Given the description of an element on the screen output the (x, y) to click on. 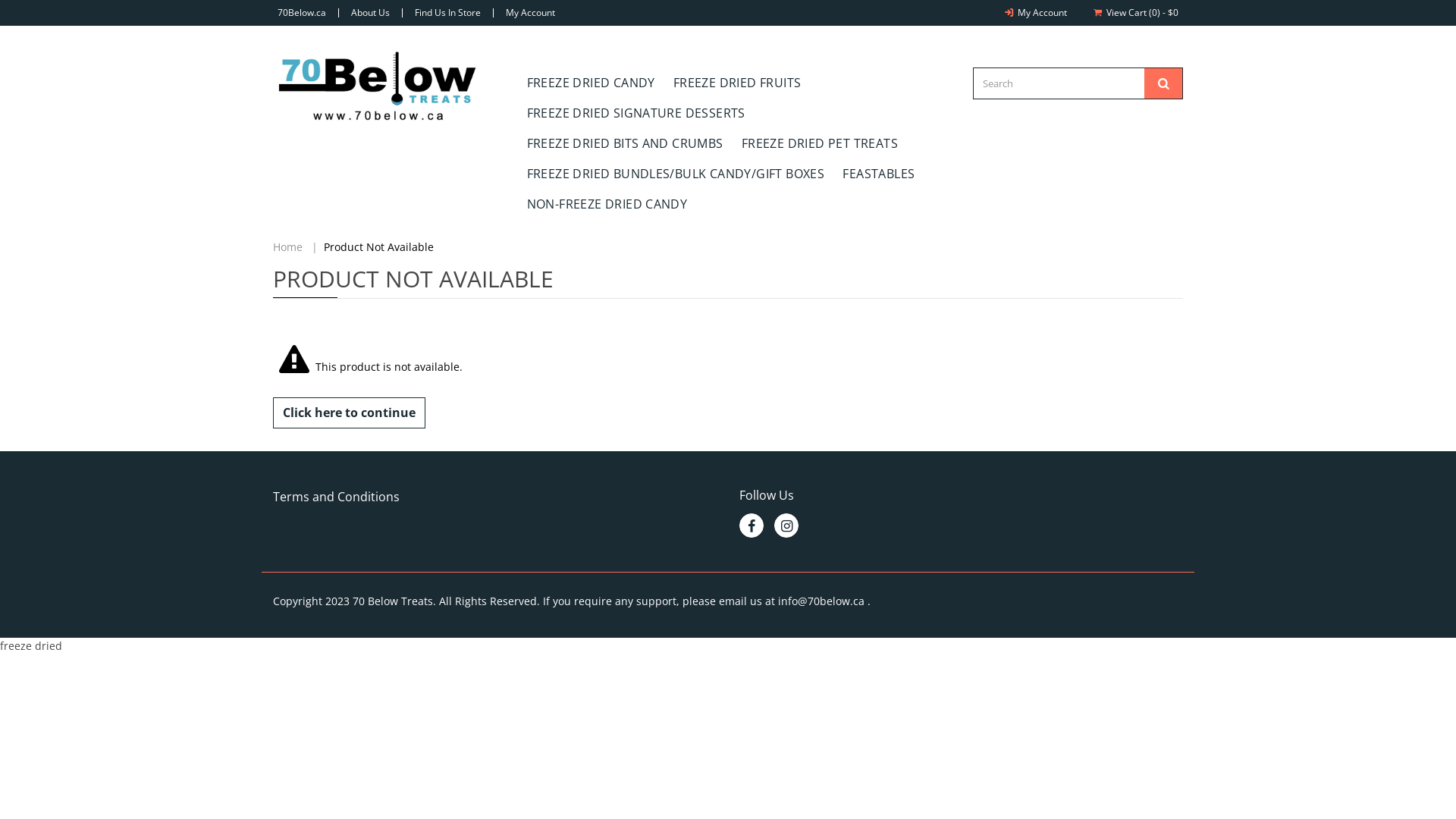
Terms and Conditions Element type: text (336, 496)
Follow Us on Instagram Element type: hover (786, 525)
70Below.ca Element type: text (301, 12)
FREEZE DRIED FRUITS Element type: text (737, 82)
View Cart (0) - $0 Element type: text (1134, 12)
Click here to continue Element type: text (349, 412)
Home Element type: text (287, 246)
NON-FREEZE DRIED CANDY Element type: text (606, 203)
FREEZE DRIED BITS AND CRUMBS Element type: text (624, 143)
Product Not Available Element type: text (378, 246)
FREEZE DRIED CANDY Element type: text (590, 82)
About Us Element type: text (370, 12)
FEASTABLES Element type: text (878, 173)
My Account Element type: text (530, 12)
Like Us on Facebook Element type: hover (751, 525)
My Account Element type: text (1034, 12)
FREEZE DRIED SIGNATURE DESSERTS Element type: text (635, 112)
Find Us In Store Element type: text (447, 12)
FREEZE DRIED PET TREATS Element type: text (819, 143)
FREEZE DRIED BUNDLES/BULK CANDY/GIFT BOXES Element type: text (675, 173)
